Given the description of an element on the screen output the (x, y) to click on. 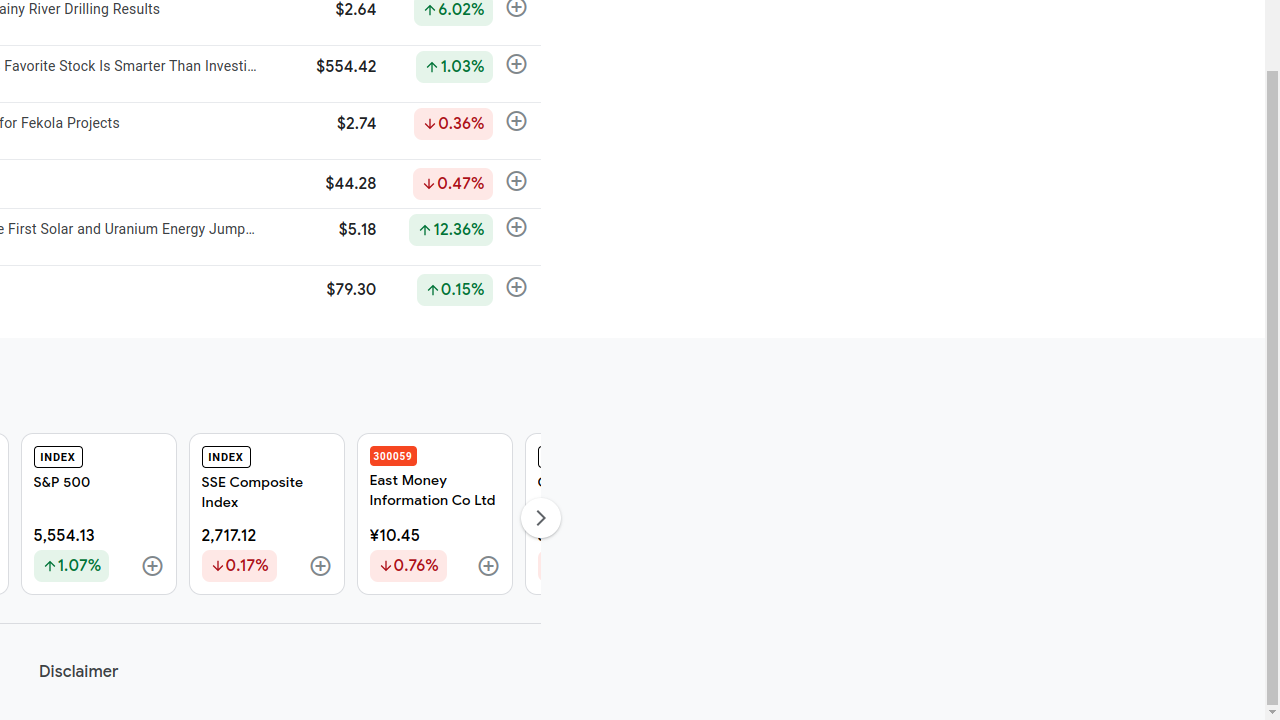
Next Element type: push-button (540, 518)
INDEX CSI 300 Index 3,172.47 Down by 0.43% Element type: link (602, 514)
